Given the description of an element on the screen output the (x, y) to click on. 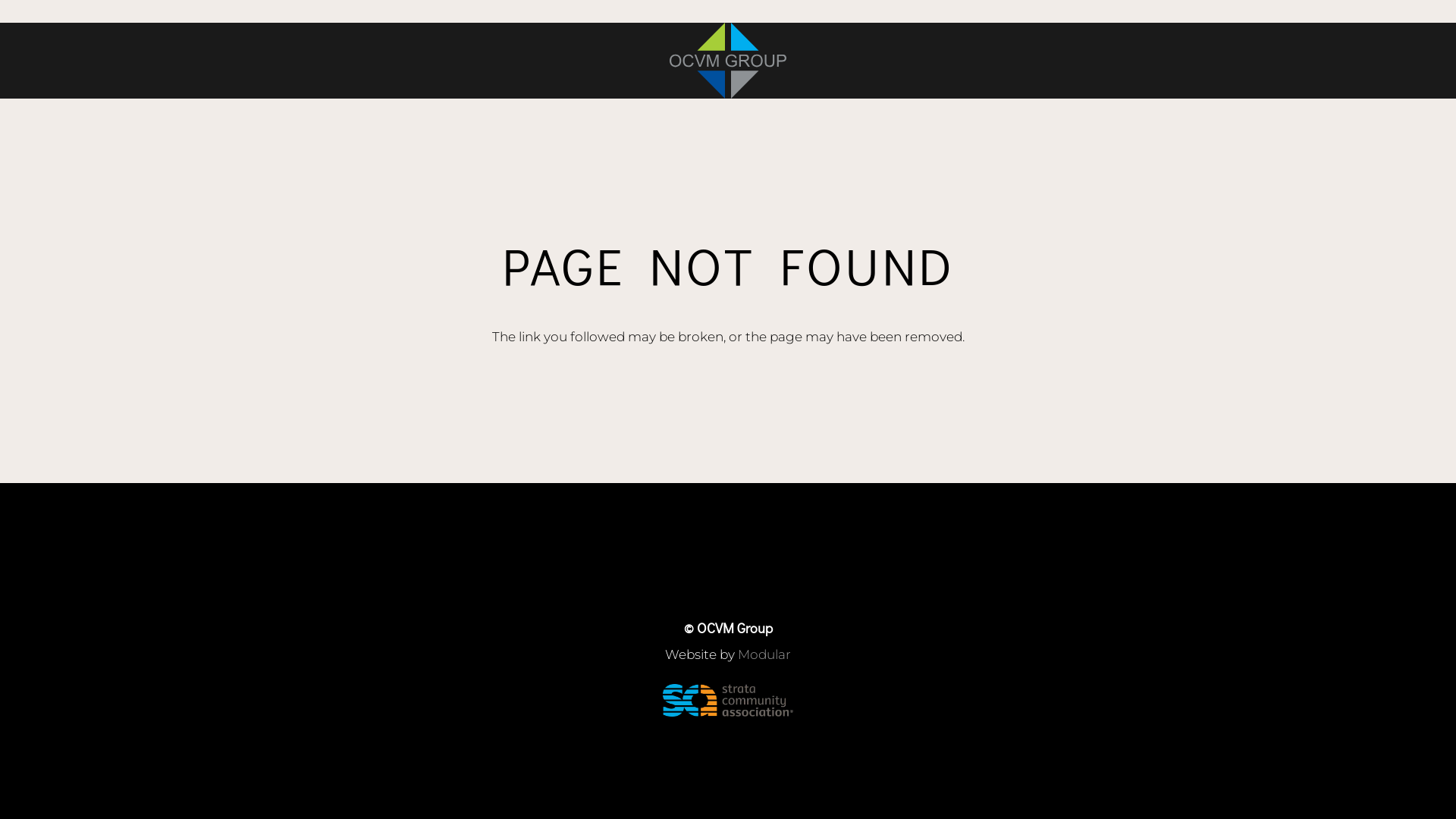
Modular Element type: text (763, 654)
